Given the description of an element on the screen output the (x, y) to click on. 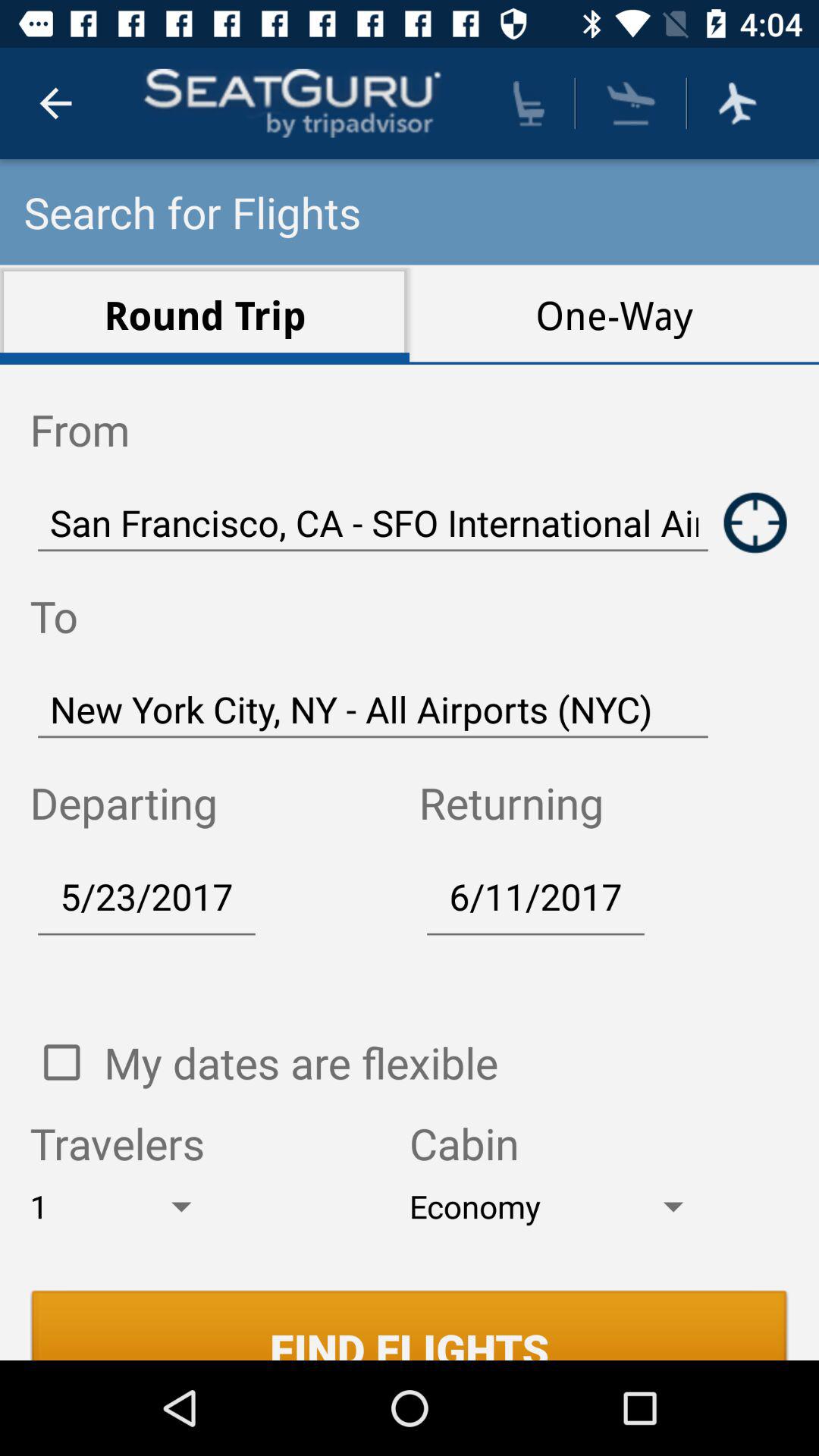
open find flights (409, 1324)
